Given the description of an element on the screen output the (x, y) to click on. 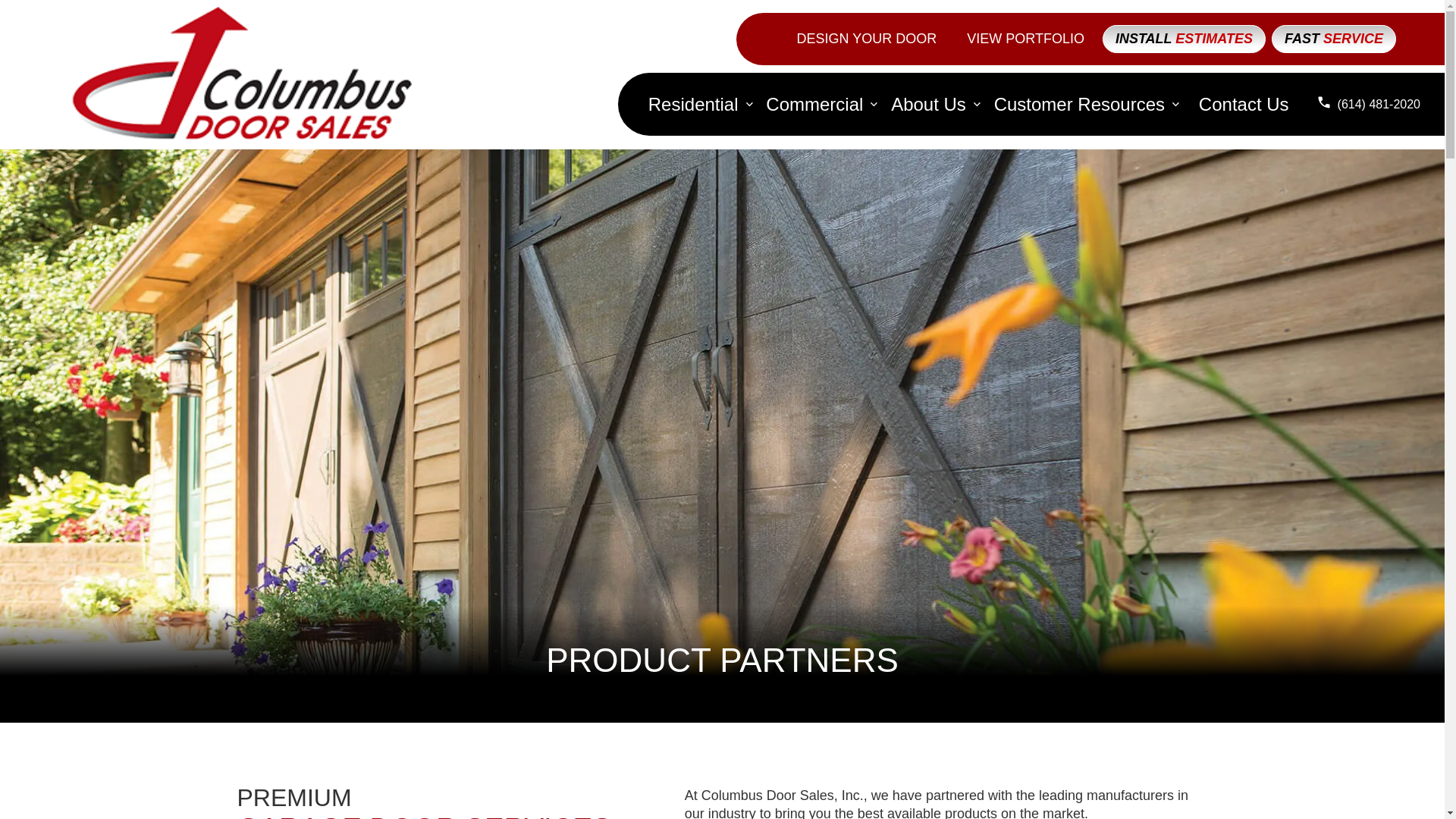
Residential (692, 104)
DESIGN YOUR DOOR (866, 38)
FAST SERVICE (1333, 39)
INSTALL ESTIMATES (1183, 39)
VIEW PORTFOLIO (1025, 38)
